Given the description of an element on the screen output the (x, y) to click on. 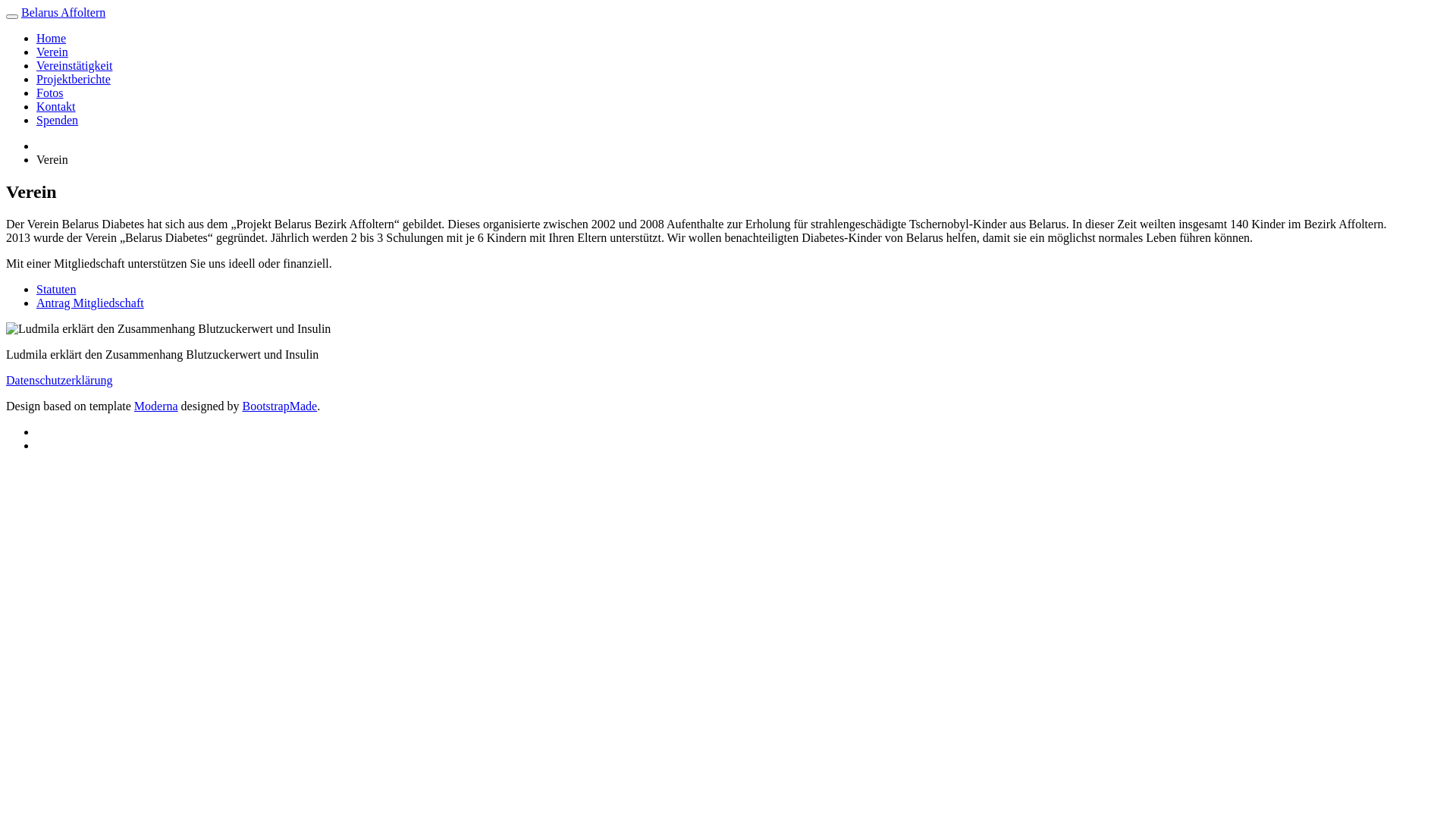
Kontakt Element type: text (55, 106)
Fotos Element type: text (49, 92)
Projektberichte Element type: text (73, 78)
Belarus Affoltern Element type: text (63, 12)
Moderna Element type: text (156, 405)
Spenden Element type: text (57, 119)
BootstrapMade Element type: text (278, 405)
Verein Element type: text (52, 51)
Home Element type: text (50, 37)
Statuten Element type: text (55, 288)
Antrag Mitgliedschaft Element type: text (90, 302)
